Given the description of an element on the screen output the (x, y) to click on. 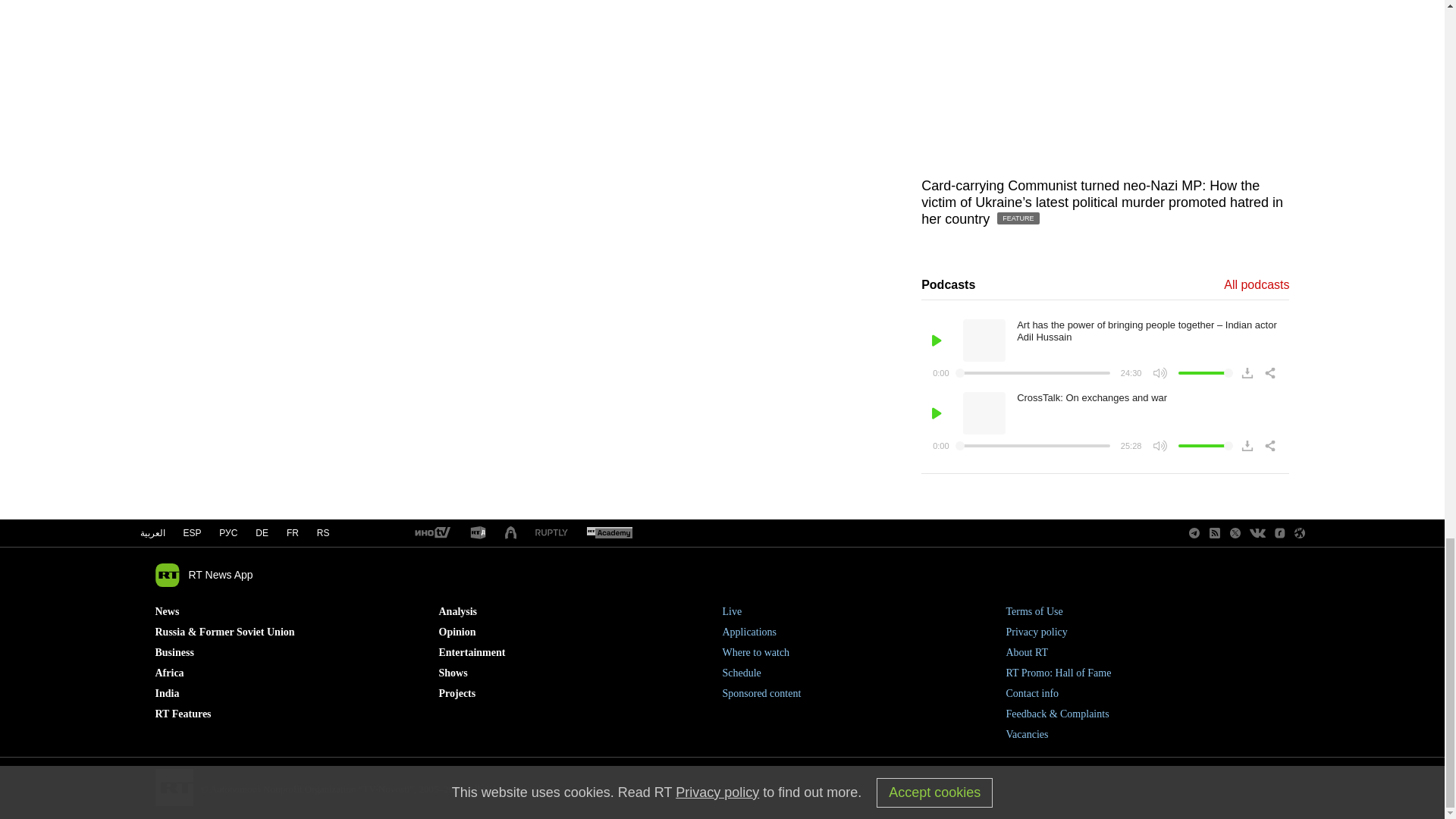
RT  (608, 533)
RT  (551, 533)
RT  (431, 533)
RT  (478, 533)
